Given the description of an element on the screen output the (x, y) to click on. 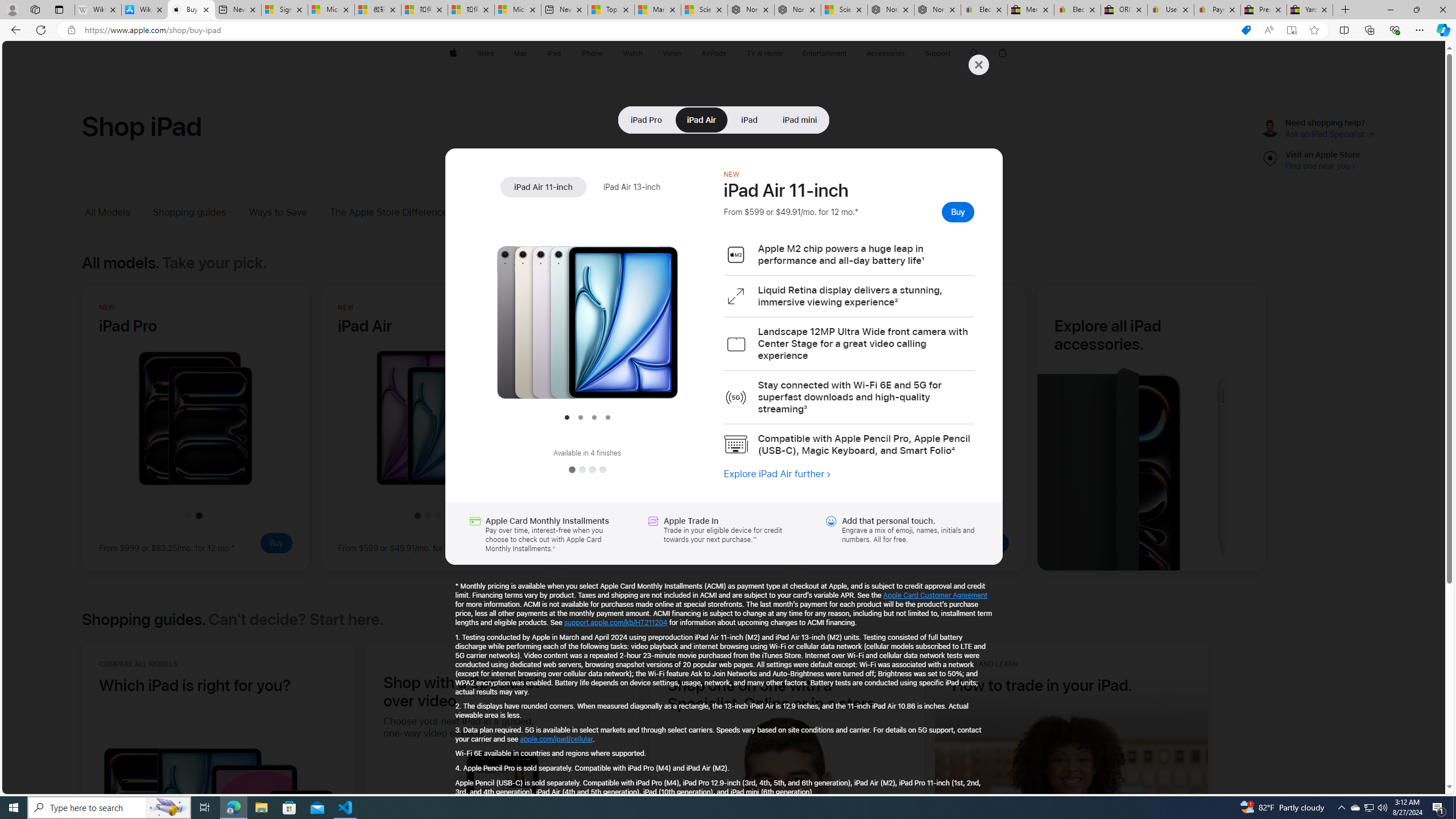
Item 1 (566, 417)
Purple (591, 469)
Top Stories - MSN (610, 9)
Press Room - eBay Inc. (1263, 9)
Item 2 (580, 417)
Purple (591, 469)
Next (700, 312)
Item 4 (607, 417)
Microsoft account | Account Checkup (517, 9)
